Given the description of an element on the screen output the (x, y) to click on. 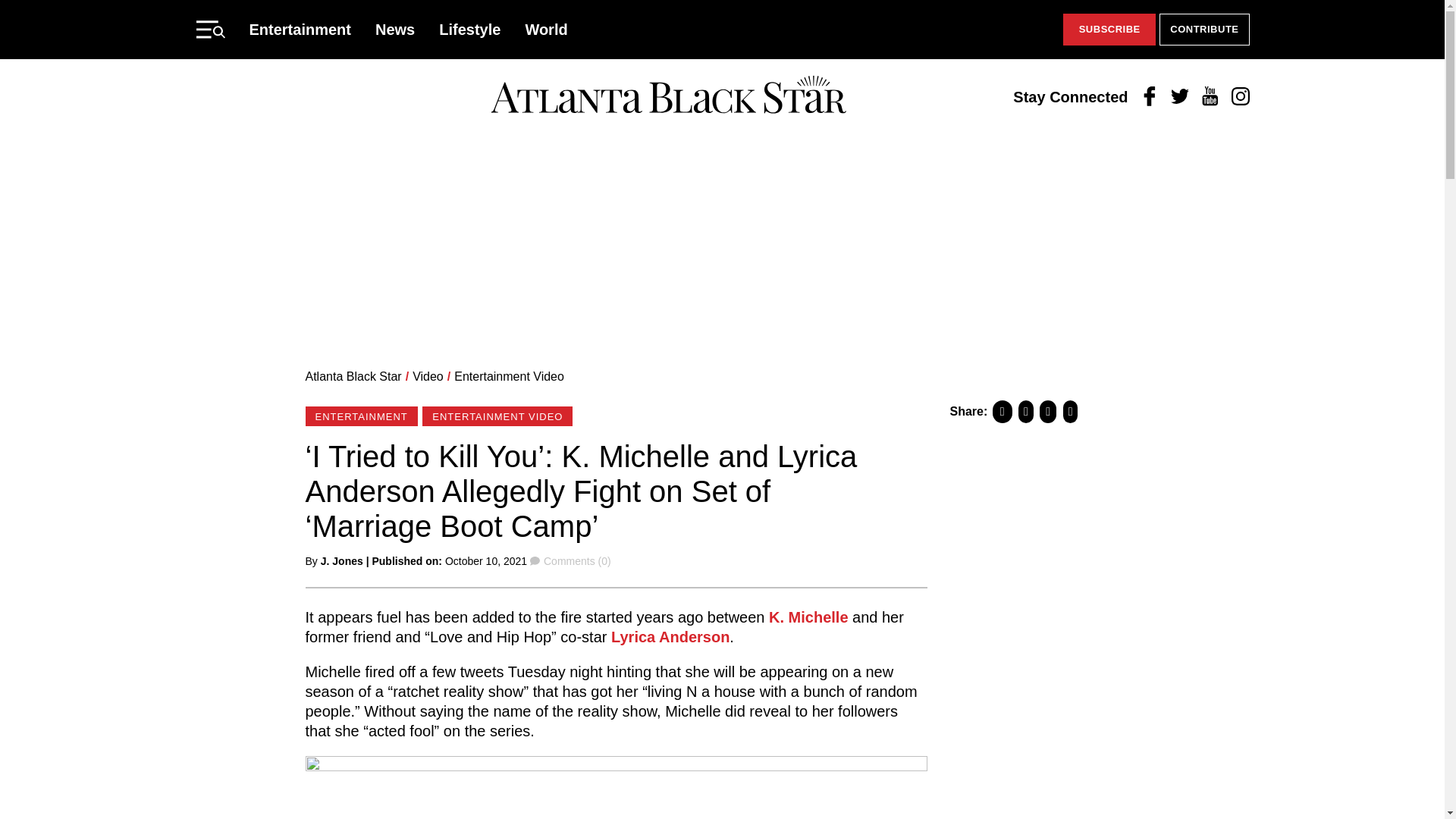
Atlanta Black Star (667, 96)
Entertainment Video (509, 376)
Go to the Entertainment Video Category archives. (509, 376)
Lifestyle (469, 29)
Atlanta Black Star (352, 376)
Video (428, 376)
ENTERTAINMENT (360, 415)
Go to Atlanta Black Star. (352, 376)
CONTRIBUTE (1203, 29)
Go to the Video Category archives. (428, 376)
